Given the description of an element on the screen output the (x, y) to click on. 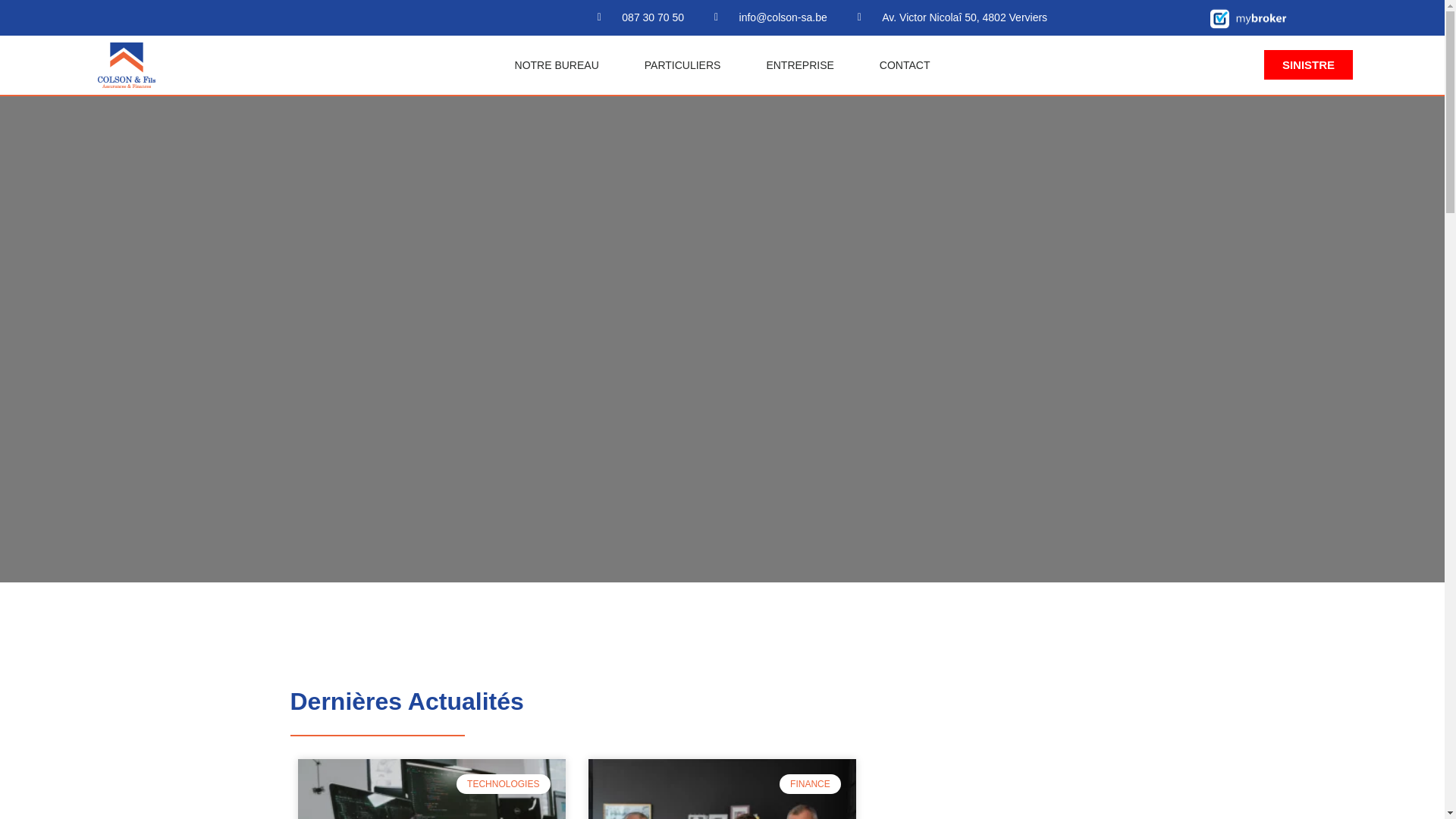
info@colson-sa.be Element type: text (770, 17)
PARTICULIERS Element type: text (682, 65)
SINISTRE Element type: text (1308, 64)
ENTREPRISE Element type: text (799, 65)
NOTRE BUREAU Element type: text (556, 65)
087 30 70 50 Element type: text (640, 17)
CONTACT Element type: text (905, 65)
